Given the description of an element on the screen output the (x, y) to click on. 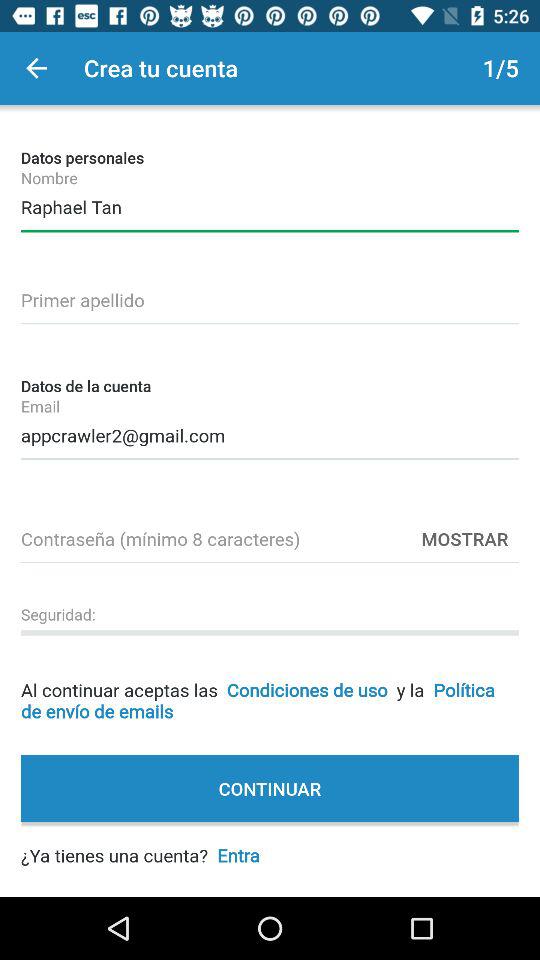
enter your password with at least eight characters (270, 536)
